Given the description of an element on the screen output the (x, y) to click on. 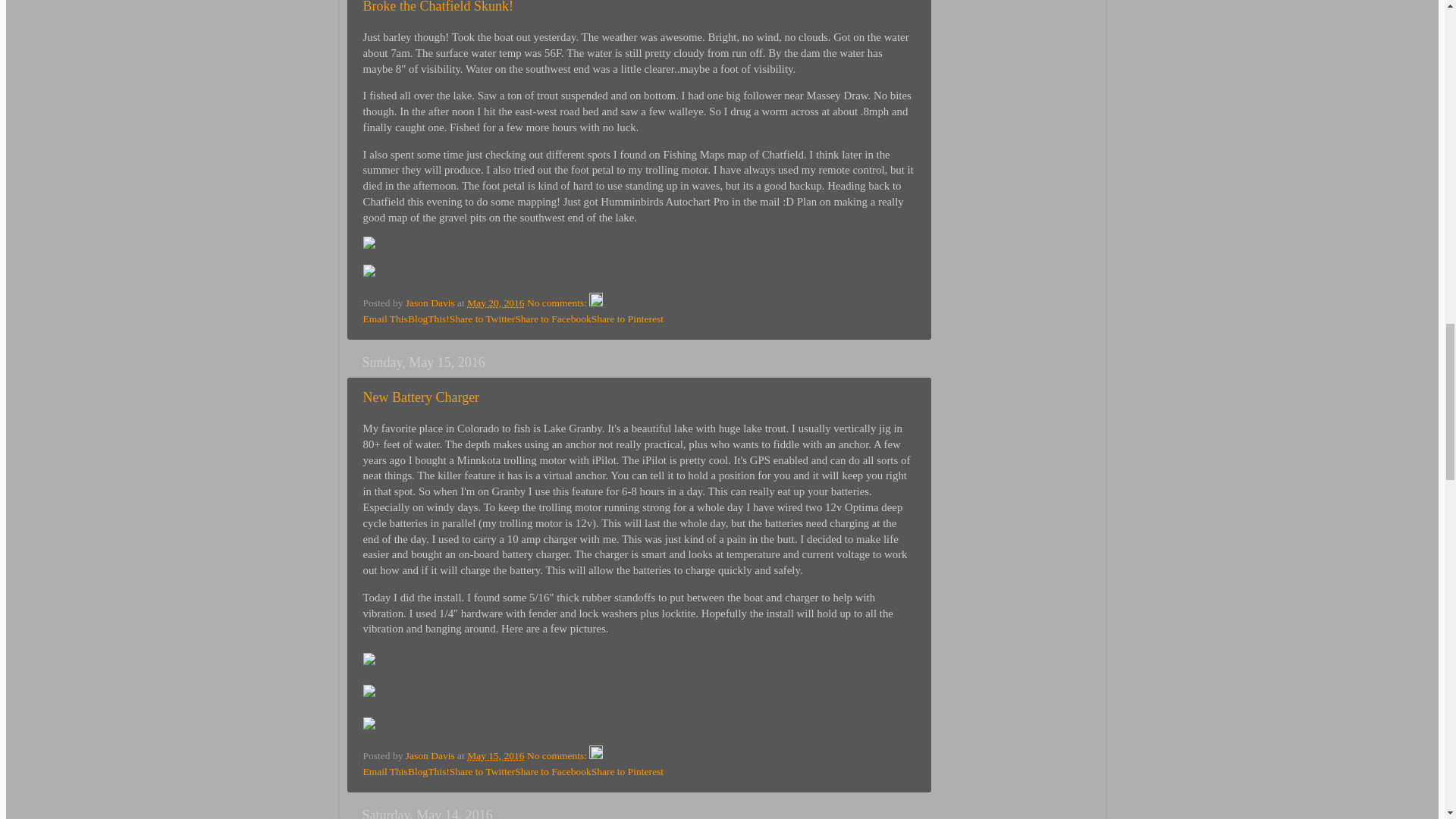
BlogThis! (428, 318)
May 20, 2016 (495, 302)
Share to Facebook (553, 318)
Share to Twitter (482, 318)
permanent link (495, 302)
Share to Pinterest (627, 318)
Share to Facebook (553, 318)
No comments: (558, 302)
Email This (384, 318)
author profile (431, 302)
Share to Twitter (482, 318)
Edit Post (595, 302)
Email This (384, 318)
Jason Davis (431, 302)
BlogThis! (428, 318)
